Given the description of an element on the screen output the (x, y) to click on. 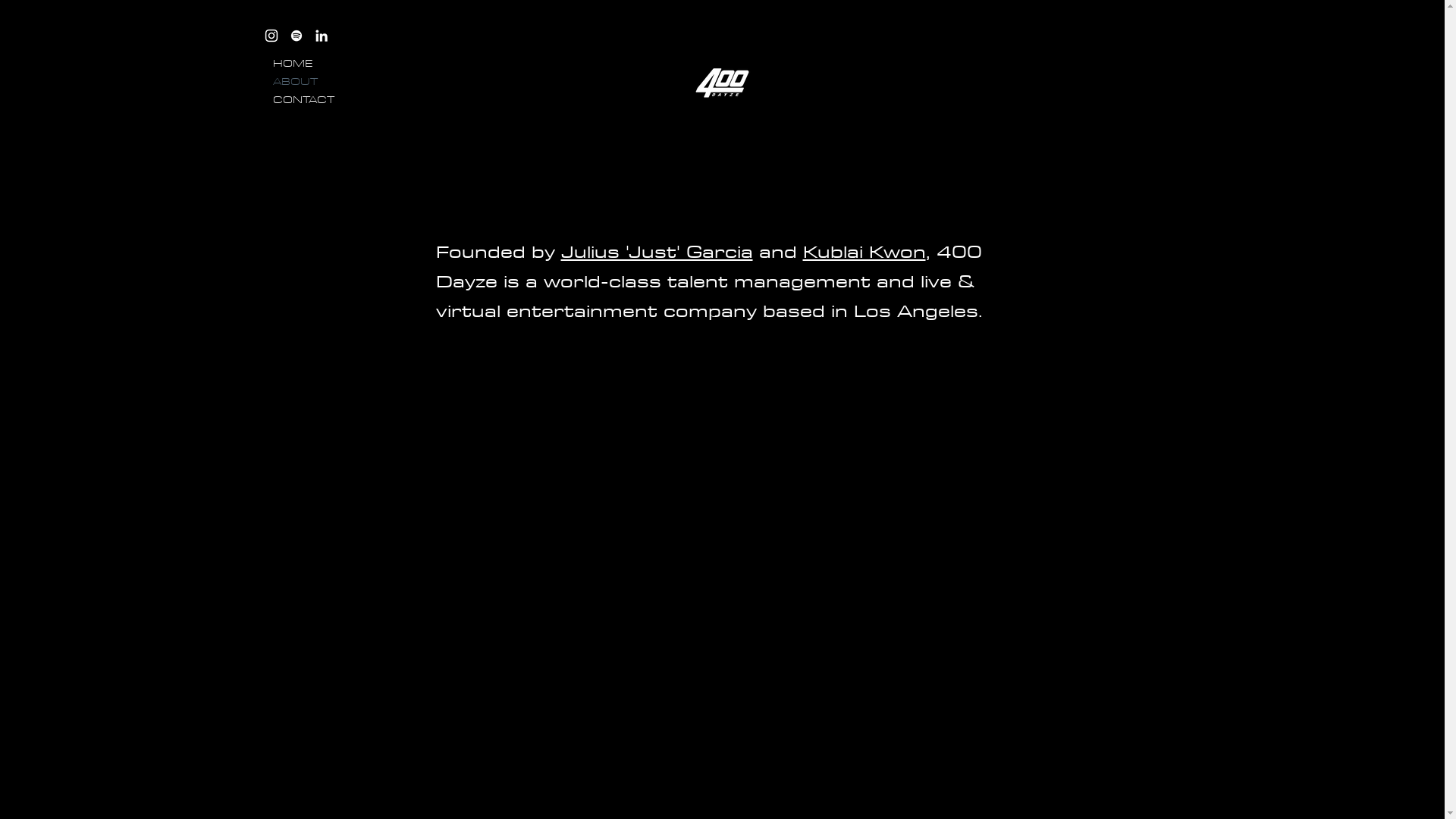
CONTACT Element type: text (306, 100)
HOME Element type: text (306, 63)
ABOUT Element type: text (306, 81)
Julius 'Just' Garcia Element type: text (657, 250)
Kublai Kwon Element type: text (863, 250)
